Given the description of an element on the screen output the (x, y) to click on. 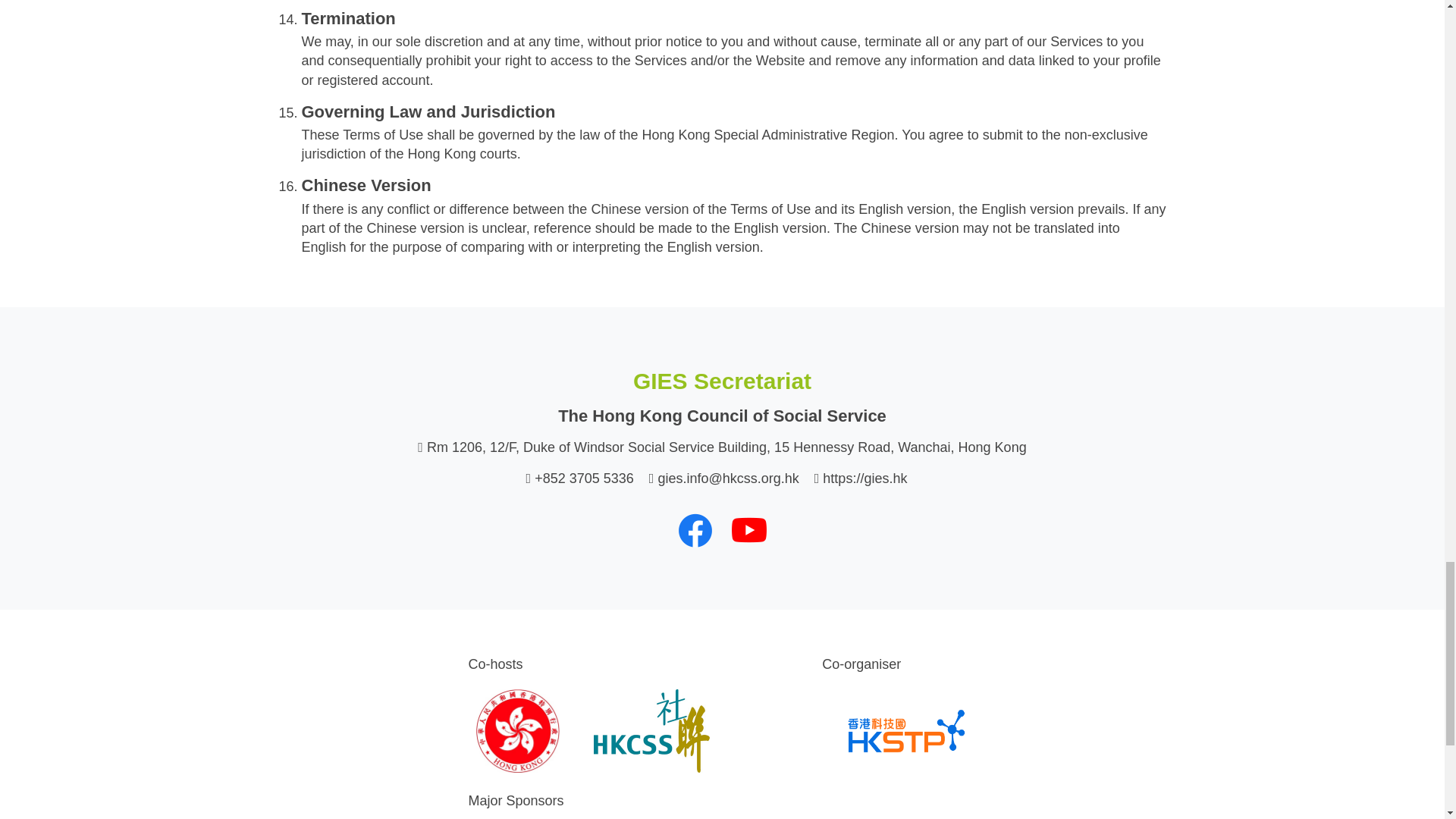
Our Youtube Channel (748, 529)
Our Facebook (695, 529)
